Given the description of an element on the screen output the (x, y) to click on. 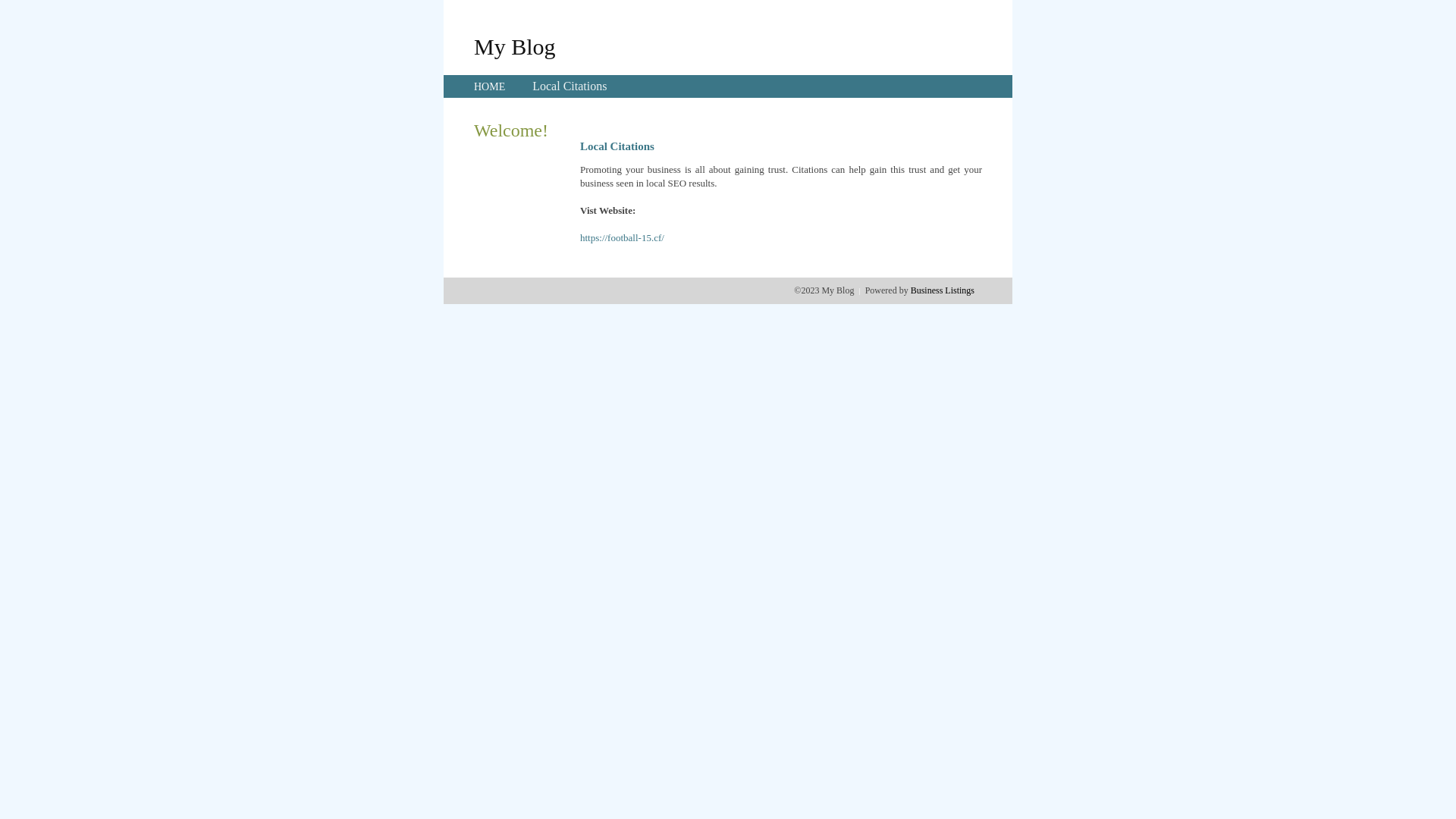
Local Citations Element type: text (569, 85)
HOME Element type: text (489, 86)
https://football-15.cf/ Element type: text (622, 237)
Business Listings Element type: text (942, 290)
My Blog Element type: text (514, 46)
